Given the description of an element on the screen output the (x, y) to click on. 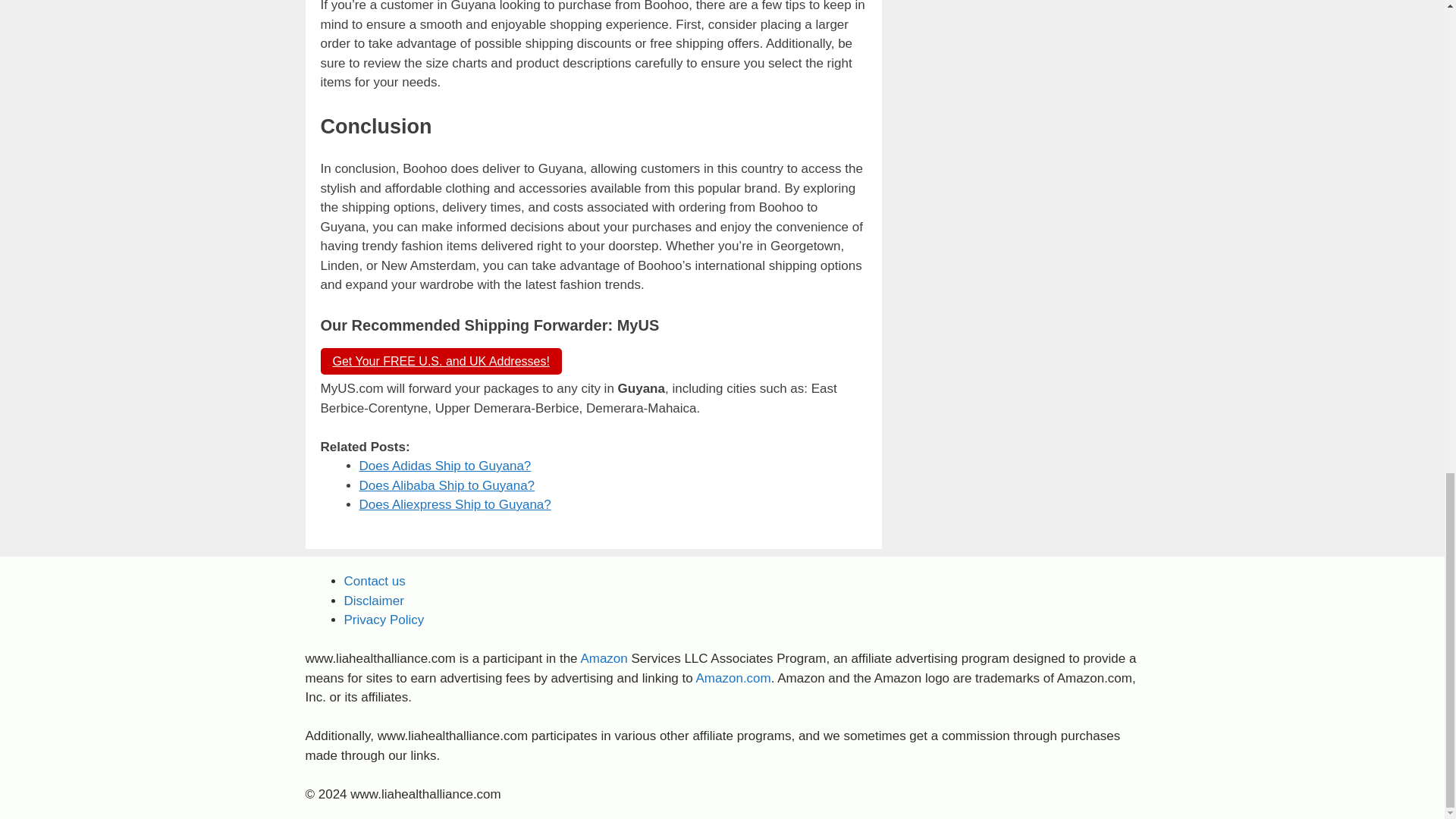
Does Adidas Ship to Guyana? (445, 465)
Amazon (603, 658)
Amazon.com (733, 677)
Get Your FREE U.S. and UK Addresses! (440, 361)
Does Aliexpress Ship to Guyana? (455, 504)
Contact us (374, 581)
Privacy Policy (384, 619)
Does Alibaba Ship to Guyana? (447, 485)
Disclaimer (373, 600)
